Given the description of an element on the screen output the (x, y) to click on. 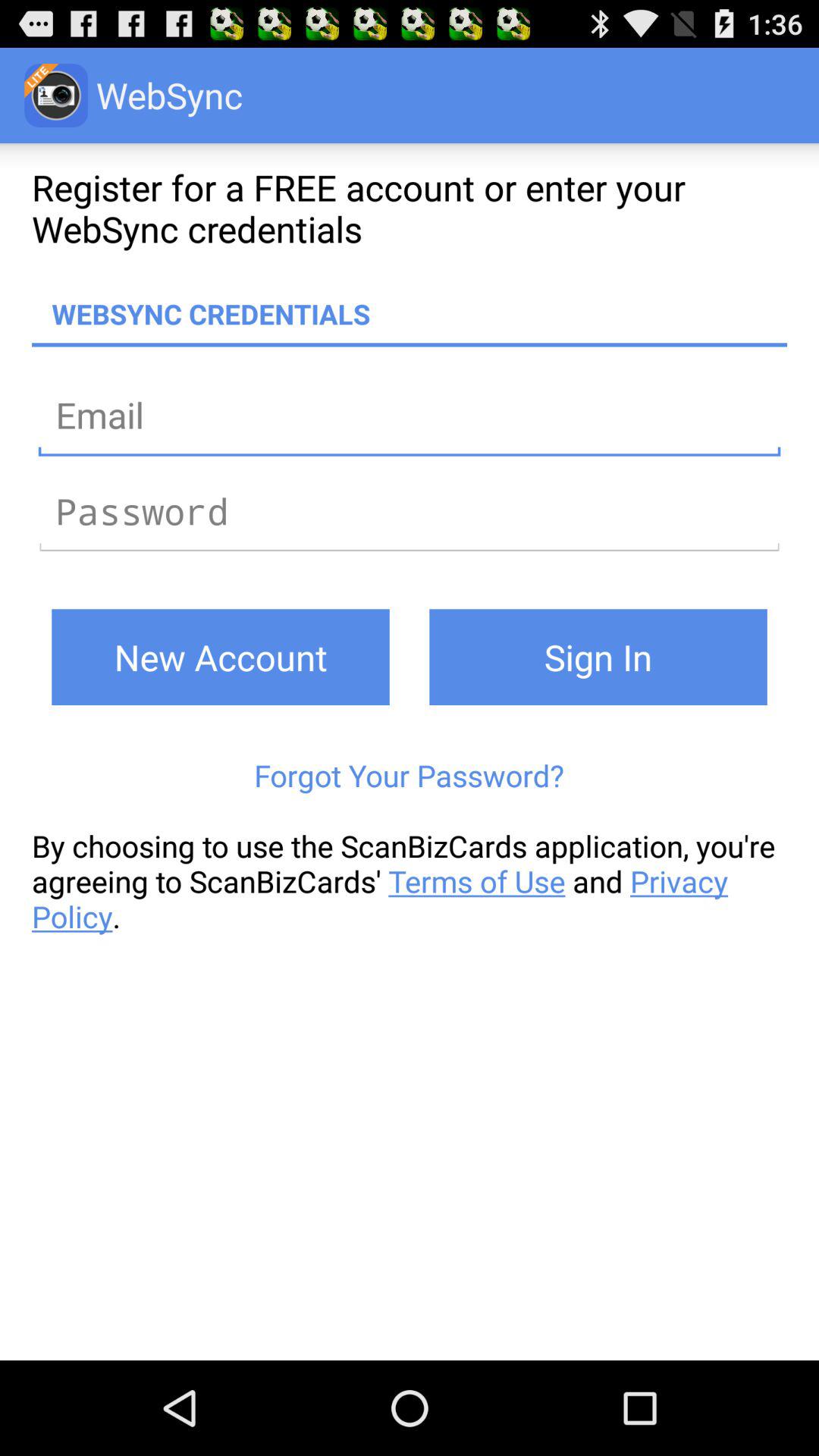
typing box (409, 510)
